Given the description of an element on the screen output the (x, y) to click on. 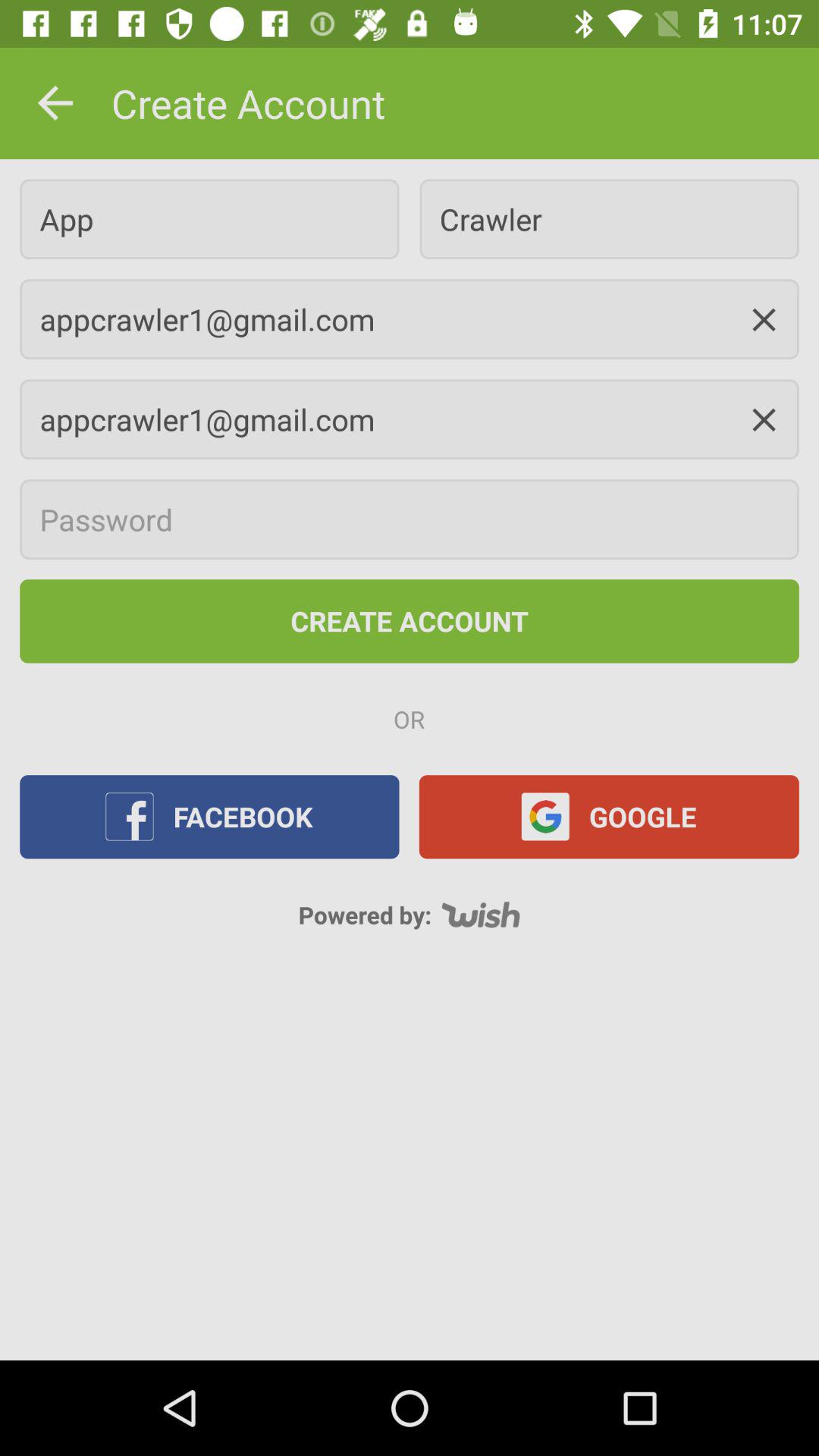
go to crawler (609, 219)
select the create account (409, 621)
select text left to crawler (209, 219)
go to first email text field (409, 319)
option before the google option at the end of the page (209, 816)
